Given the description of an element on the screen output the (x, y) to click on. 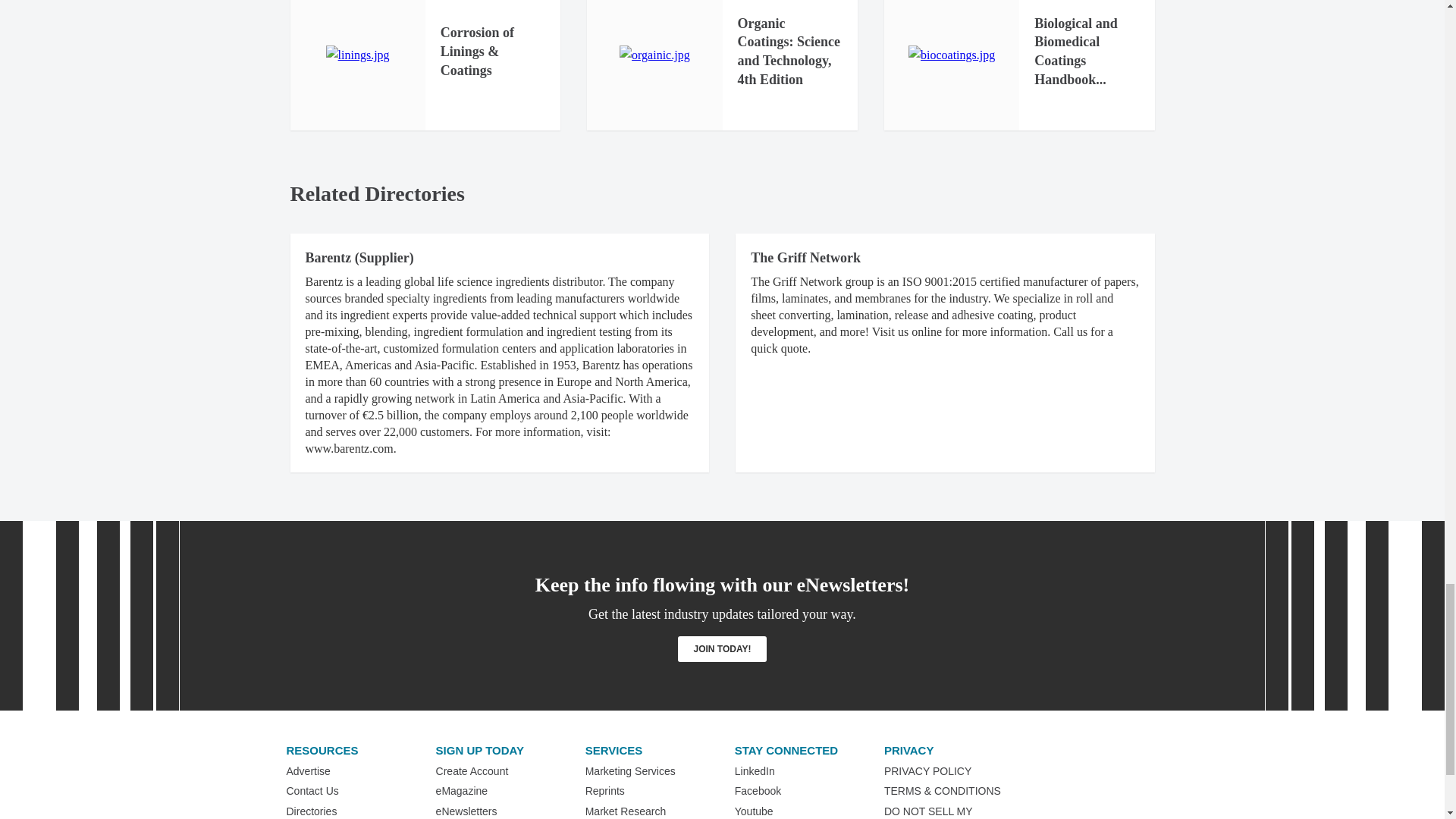
biocoatings.jpg (951, 55)
linings.jpg (358, 55)
liningorgainic.jpgs.jpg (655, 55)
